Given the description of an element on the screen output the (x, y) to click on. 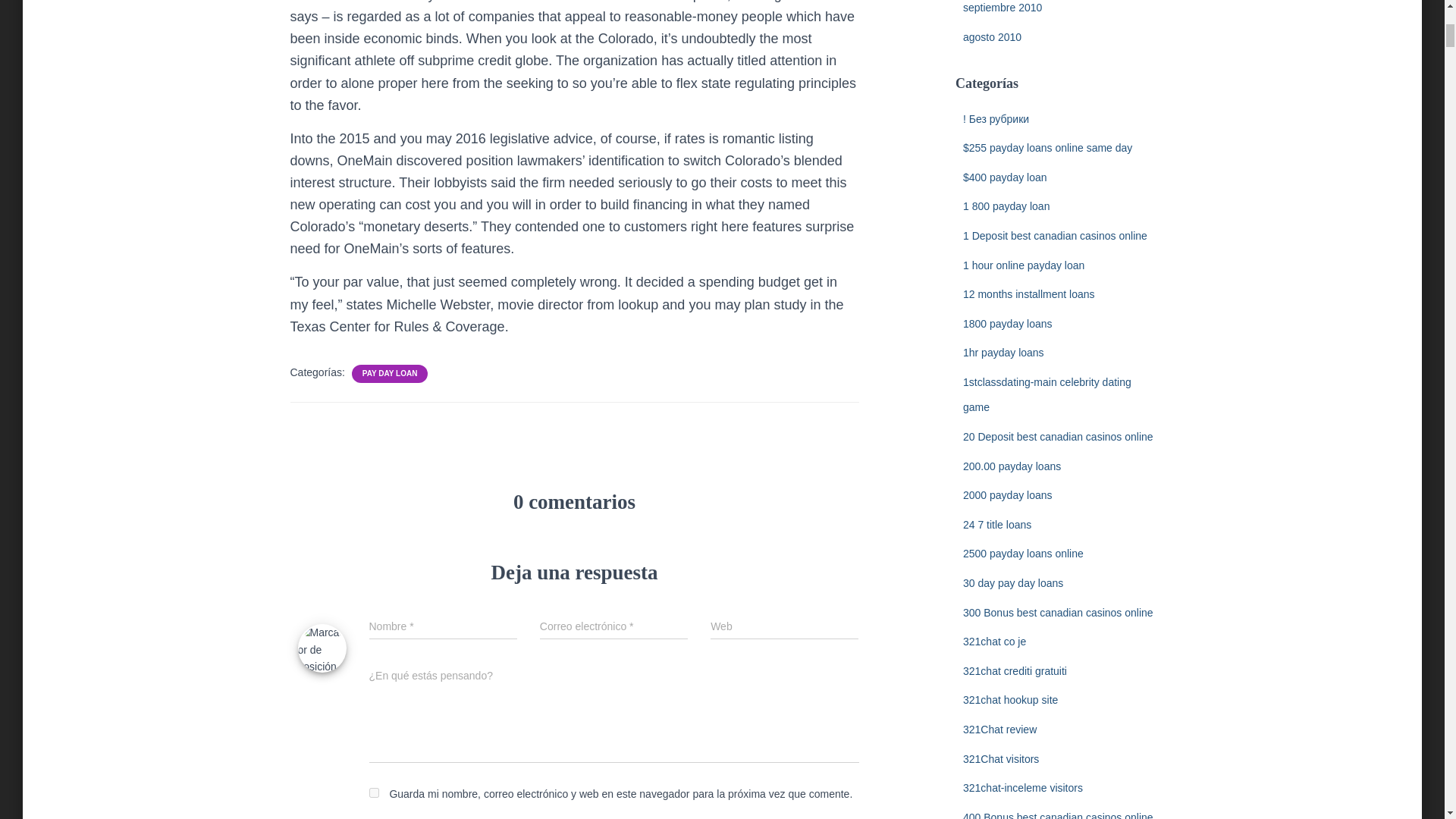
yes (373, 792)
septiembre 2010 (1002, 7)
agosto 2010 (992, 37)
PAY DAY LOAN (390, 373)
